Given the description of an element on the screen output the (x, y) to click on. 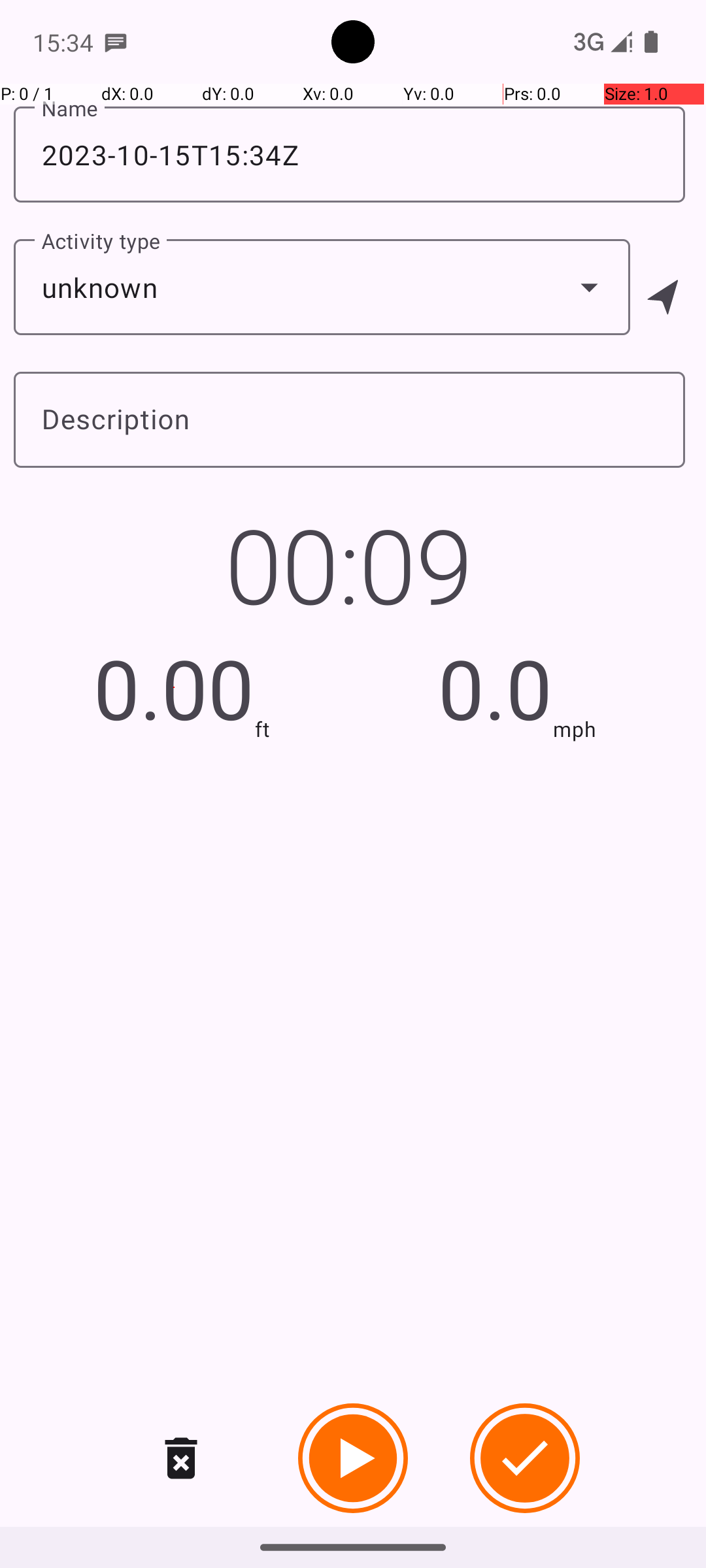
Discard Element type: android.widget.ImageView (180, 1457)
Stop Element type: android.widget.ImageView (524, 1458)
2023-10-15T15:34Z Element type: android.widget.EditText (349, 154)
unknown Element type: android.widget.AutoCompleteTextView (321, 287)
00:09 Element type: android.widget.TextView (349, 563)
0.00 Element type: android.widget.TextView (173, 687)
0.0 Element type: android.widget.TextView (494, 687)
mph Element type: android.widget.TextView (574, 728)
